Given the description of an element on the screen output the (x, y) to click on. 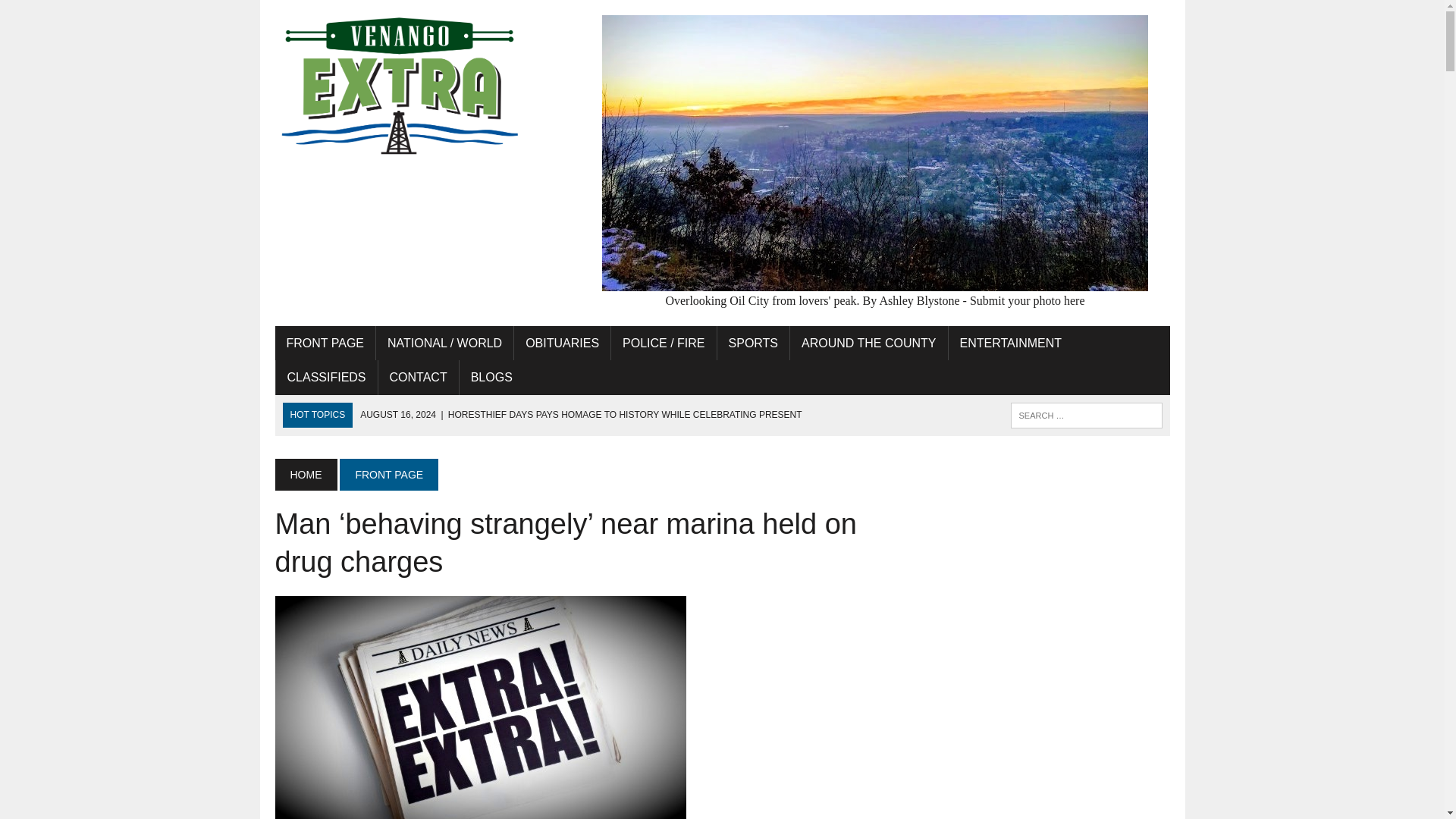
FRONT PAGE (325, 343)
SPORTS (753, 343)
CLASSIFIEDS (326, 377)
Venango Extra.com (416, 86)
ENTERTAINMENT (1011, 343)
OBITUARIES (561, 343)
AROUND THE COUNTY (868, 343)
